Given the description of an element on the screen output the (x, y) to click on. 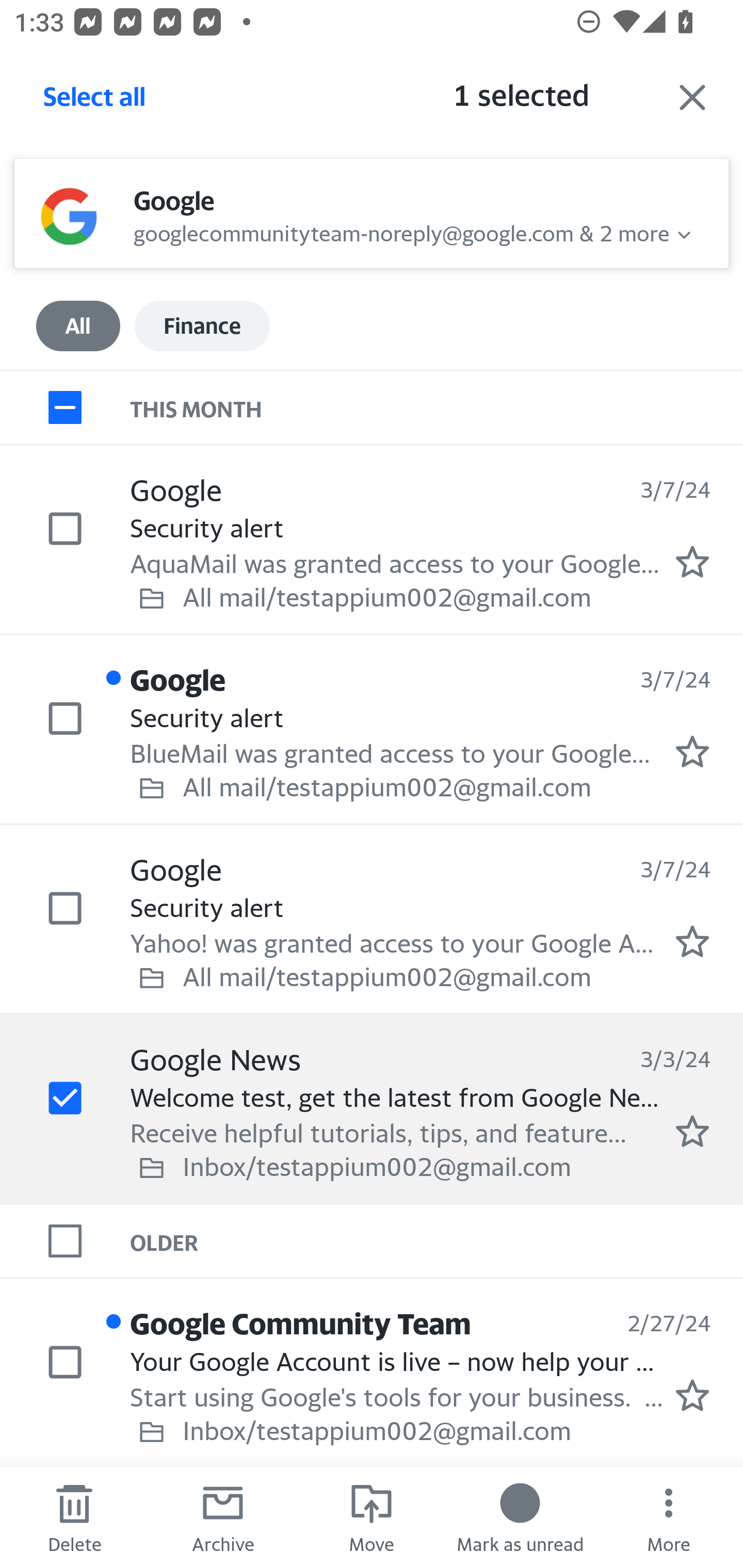
Exit selection mode (692, 97)
Select all (94, 101)
googlecommunityteam-noreply@google.com & 2 more (401, 231)
All (78, 326)
Finance (201, 326)
THIS MONTH (436, 406)
Mark as starred. (692, 562)
Mark as starred. (692, 751)
Mark as starred. (692, 941)
Mark as starred. (692, 1131)
OLDER (436, 1240)
Mark as starred. (692, 1394)
Delete (74, 1517)
Archive (222, 1517)
Move (371, 1517)
Mark as unread (519, 1517)
More (668, 1517)
